Given the description of an element on the screen output the (x, y) to click on. 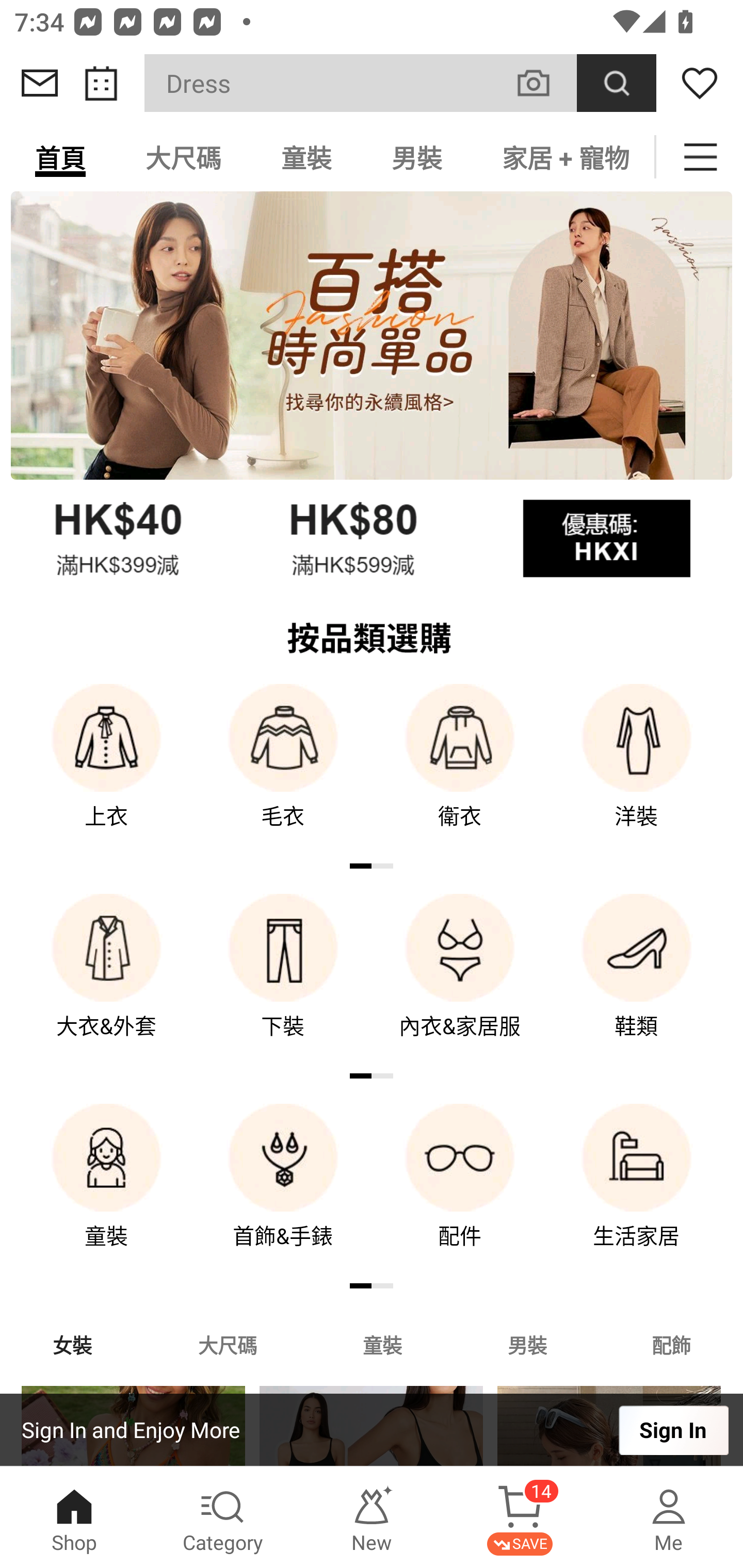
Wishlist (699, 82)
VISUAL SEARCH (543, 82)
首頁 (60, 156)
大尺碼 (183, 156)
童裝 (306, 156)
男裝 (416, 156)
家居 + 寵物 (563, 156)
上衣 (105, 769)
毛衣 (282, 769)
衛衣 (459, 769)
洋裝 (636, 769)
大衣&外套 (105, 979)
下裝 (282, 979)
內衣&家居服 (459, 979)
鞋類 (636, 979)
童裝 (105, 1189)
首飾&手錶 (282, 1189)
配件 (459, 1189)
生活家居 (636, 1189)
女裝 (72, 1344)
大尺碼 (226, 1344)
童裝 (381, 1344)
男裝 (527, 1344)
配飾 (671, 1344)
Sign In and Enjoy More Sign In (371, 1429)
Category (222, 1517)
New (371, 1517)
Cart 14 SAVE (519, 1517)
Me (668, 1517)
